Given the description of an element on the screen output the (x, y) to click on. 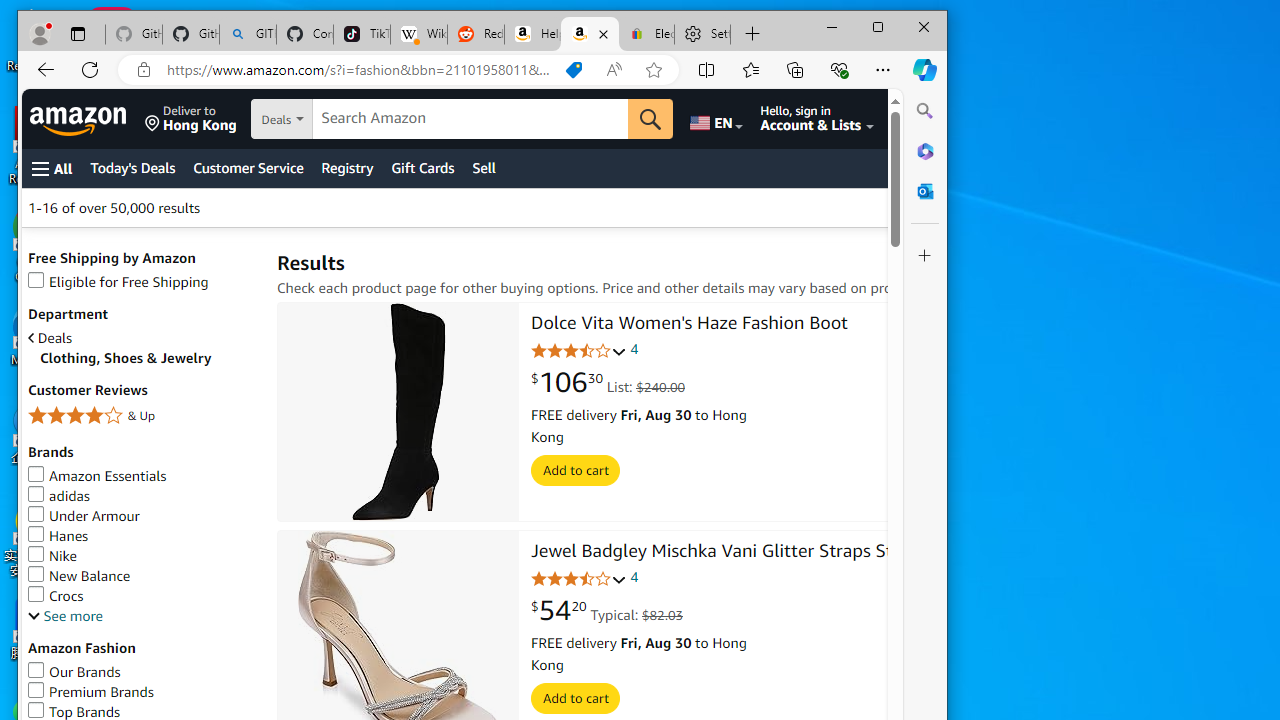
Under Armour (83, 516)
adidas (58, 496)
Deliver to Hong Kong (190, 119)
Dolce Vita Women's Haze Fashion Boot (689, 324)
Registry (347, 168)
Maximize (878, 26)
Deals (142, 338)
Hello, sign in Account & Lists (817, 119)
Under Armour (142, 516)
